Given the description of an element on the screen output the (x, y) to click on. 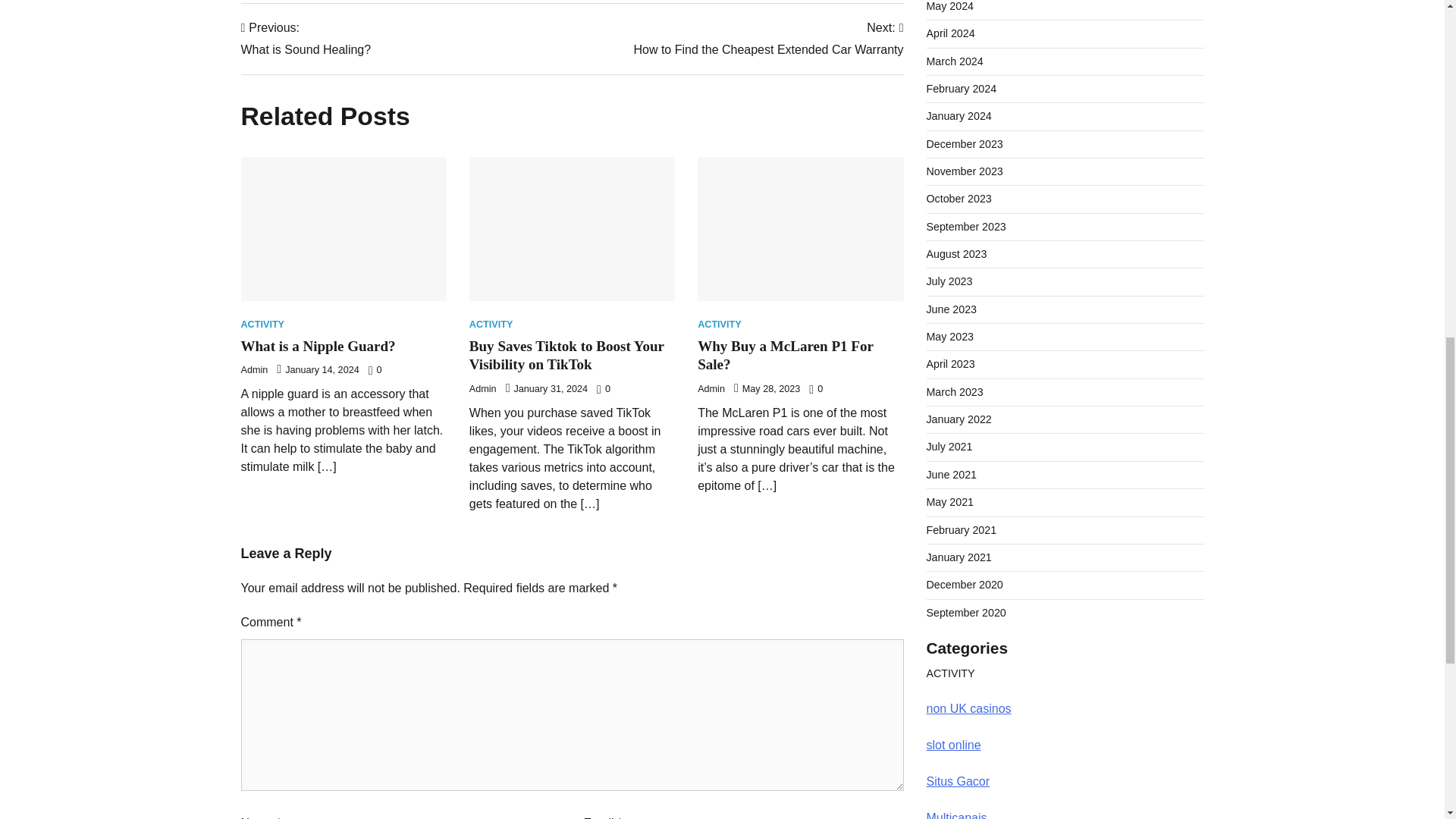
Admin (482, 388)
ACTIVITY (490, 325)
What is a Nipple Guard? (318, 345)
ACTIVITY (263, 325)
Why Buy a McLaren P1 For Sale? (785, 355)
ACTIVITY (719, 325)
Buy Saves Tiktok to Boost Your Visibility on TikTok (565, 355)
Admin (711, 388)
Admin (254, 369)
